Given the description of an element on the screen output the (x, y) to click on. 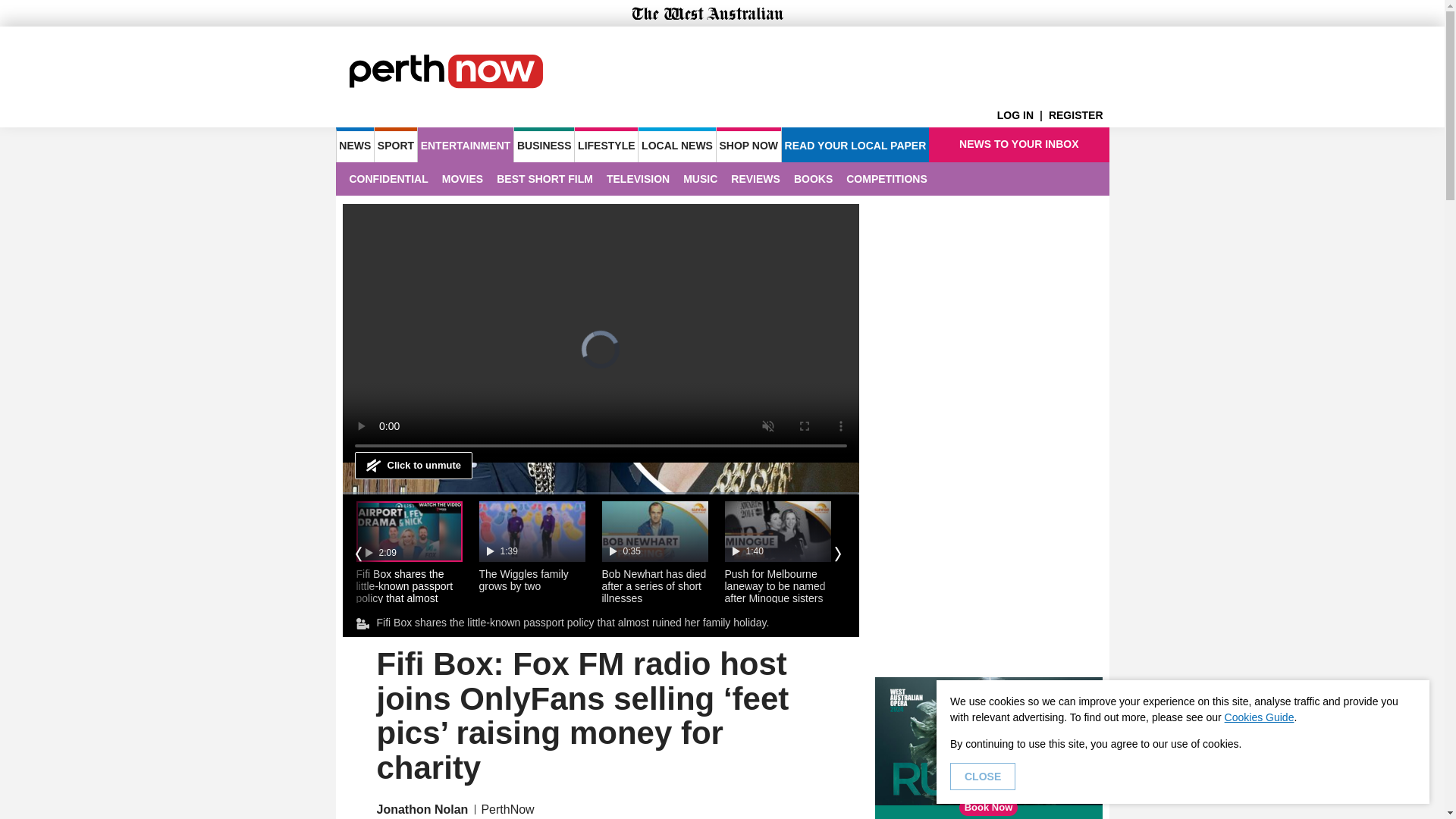
REGISTER (1078, 115)
ENTERTAINMENT (465, 144)
SPORT (395, 144)
BUSINESS (543, 144)
LOG IN (1022, 115)
NEWS (354, 144)
